Given the description of an element on the screen output the (x, y) to click on. 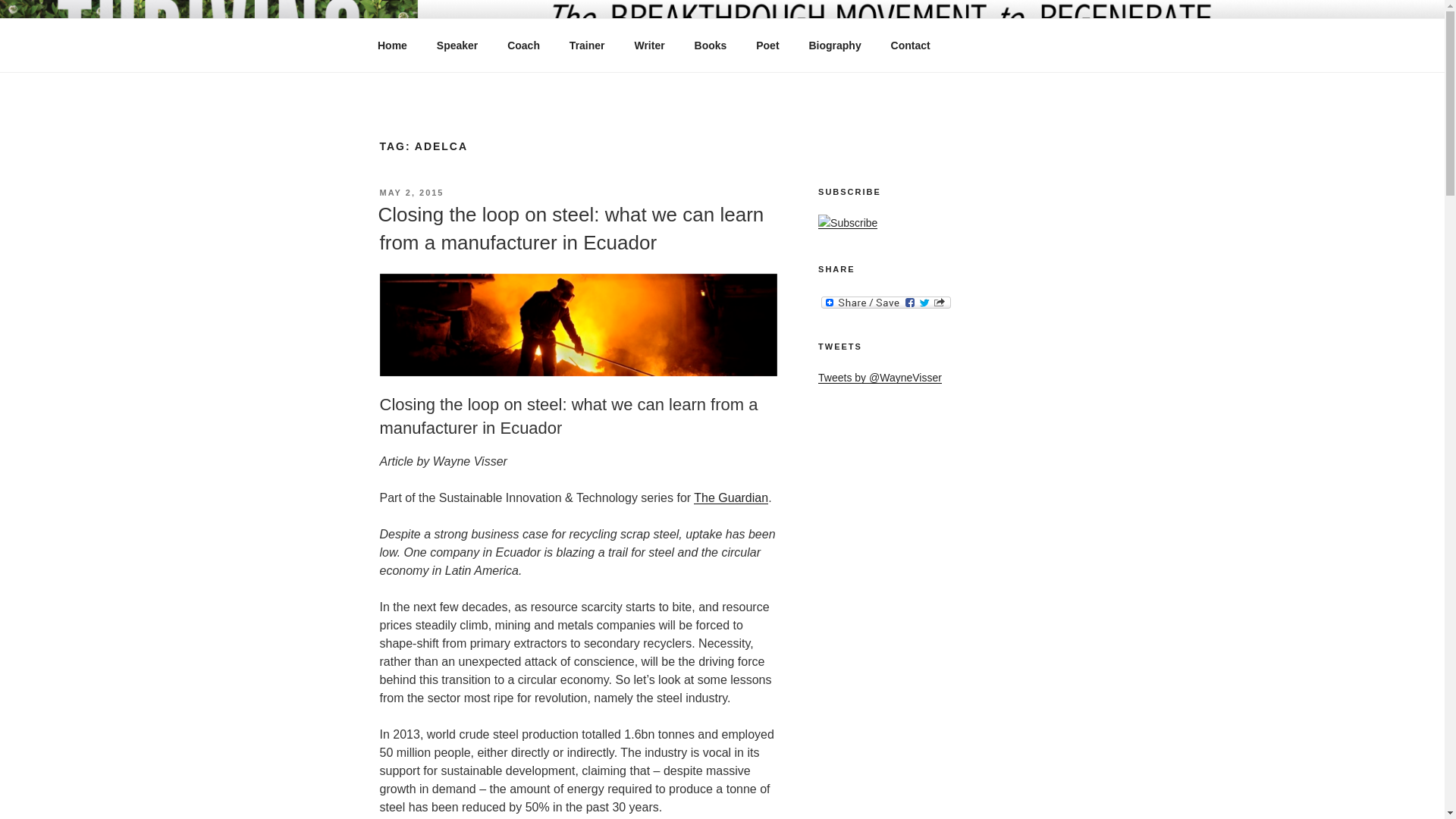
Speaker (456, 45)
Biography (834, 45)
MAY 2, 2015 (411, 192)
Home (392, 45)
Trainer (586, 45)
Poet (767, 45)
WAYNE VISSER (494, 52)
Contact (910, 45)
Books (710, 45)
Writer (649, 45)
